Given the description of an element on the screen output the (x, y) to click on. 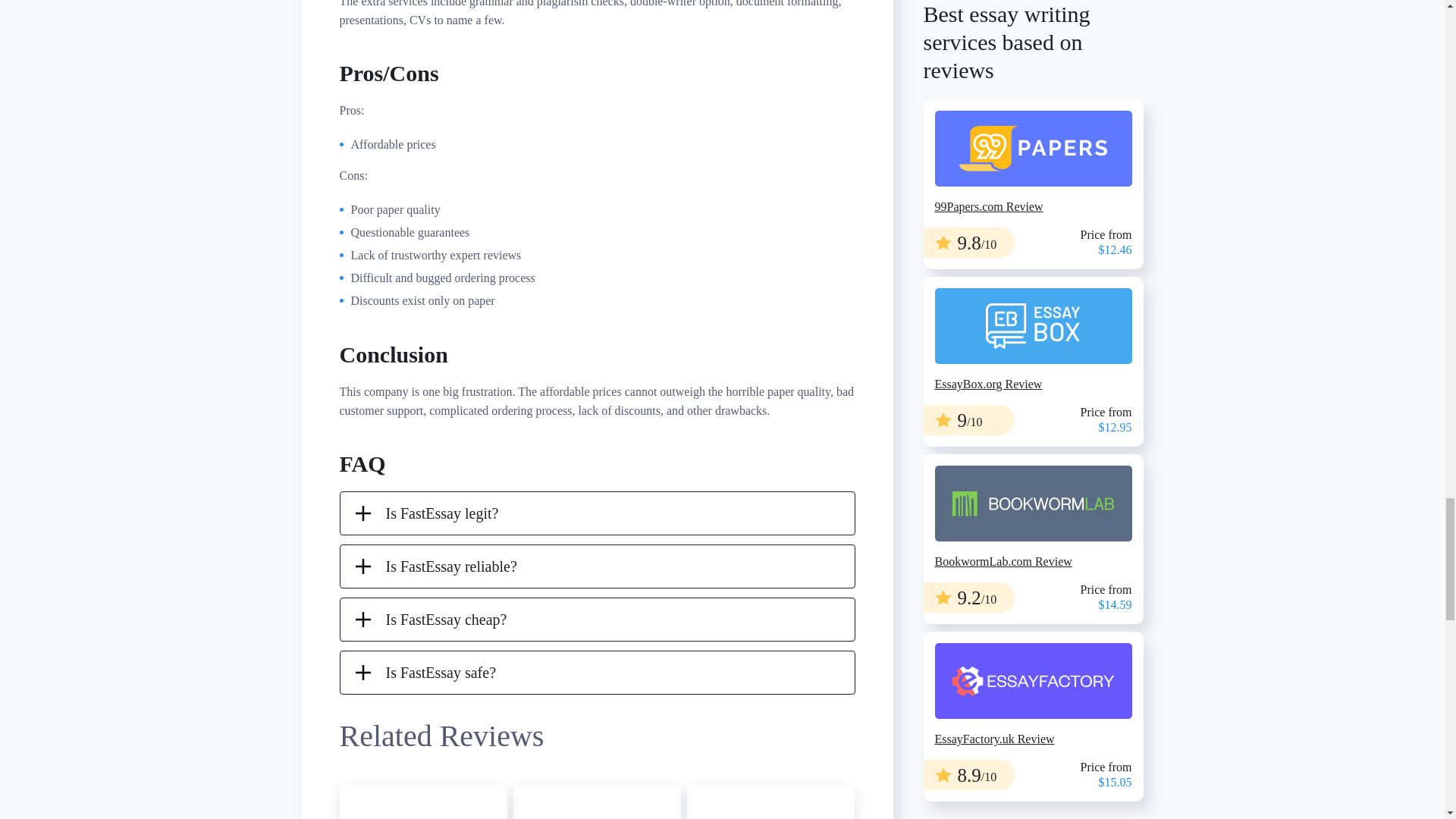
Writemyessay4me.org Review (422, 801)
Allassignmenthelp.com Review (770, 801)
Superbpaper.com Review (422, 801)
